Given the description of an element on the screen output the (x, y) to click on. 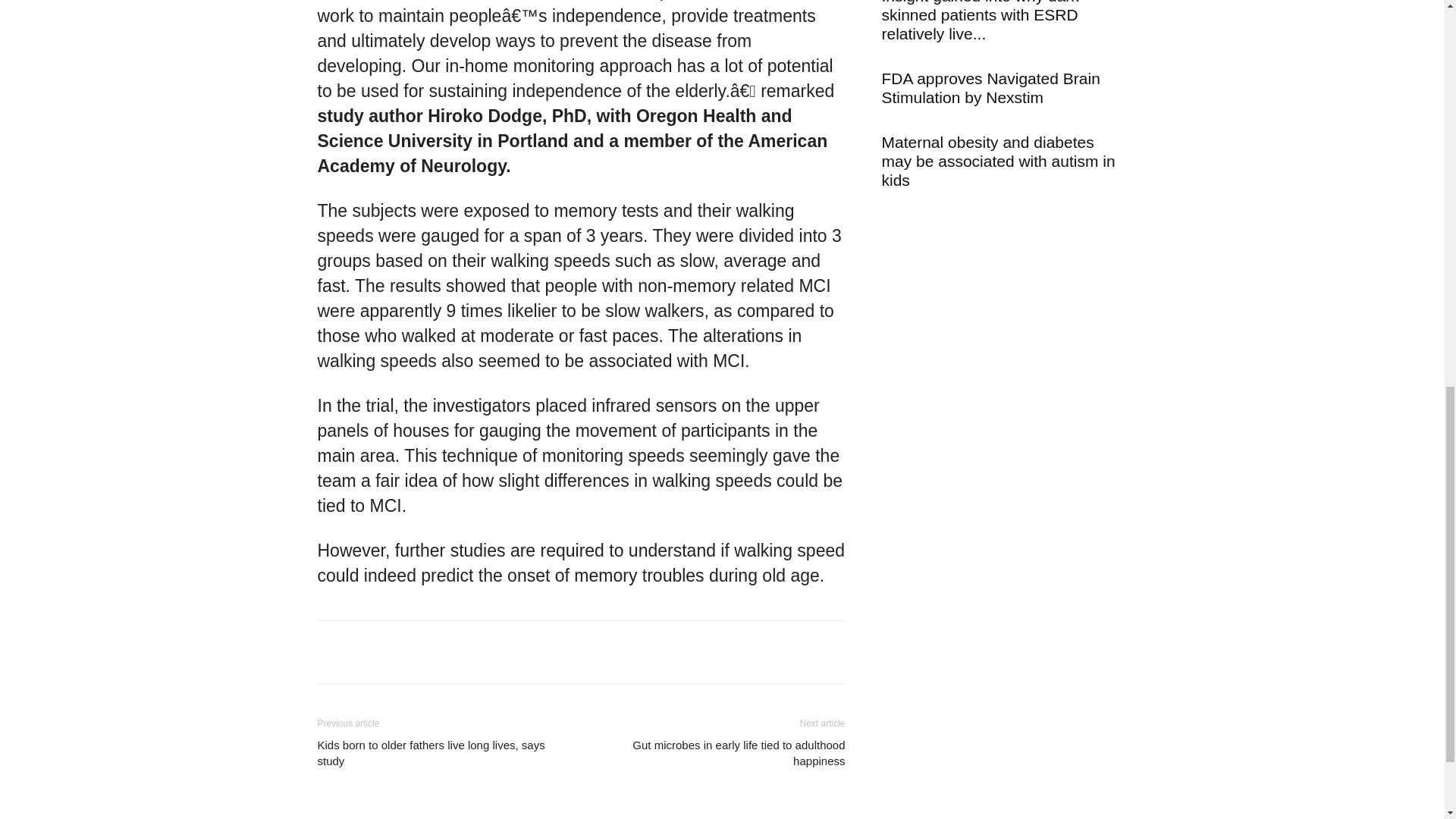
FDA approves Navigated Brain Stimulation by Nexstim (989, 87)
